Given the description of an element on the screen output the (x, y) to click on. 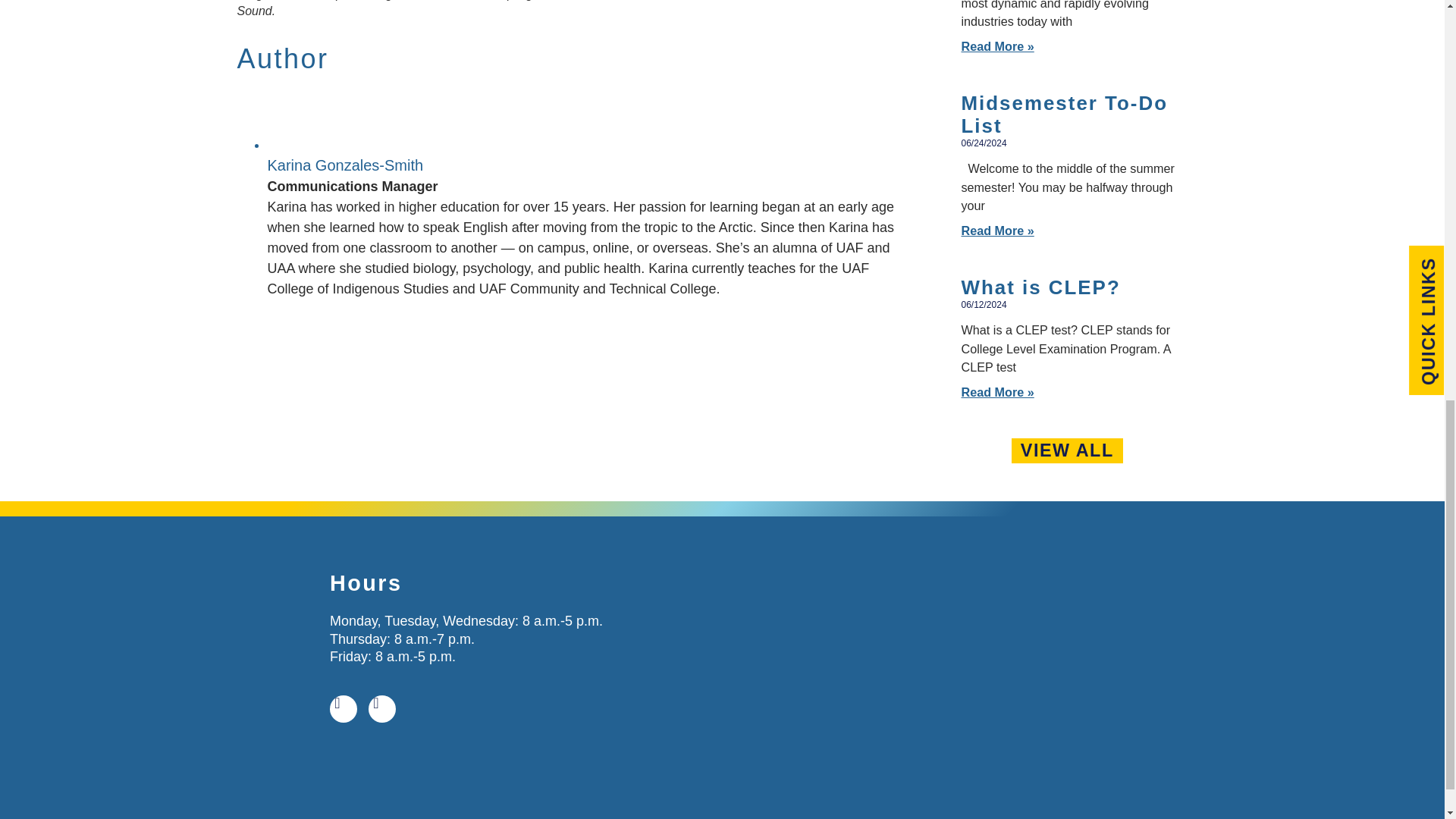
Karina Gonzales-Smith (344, 165)
